Given the description of an element on the screen output the (x, y) to click on. 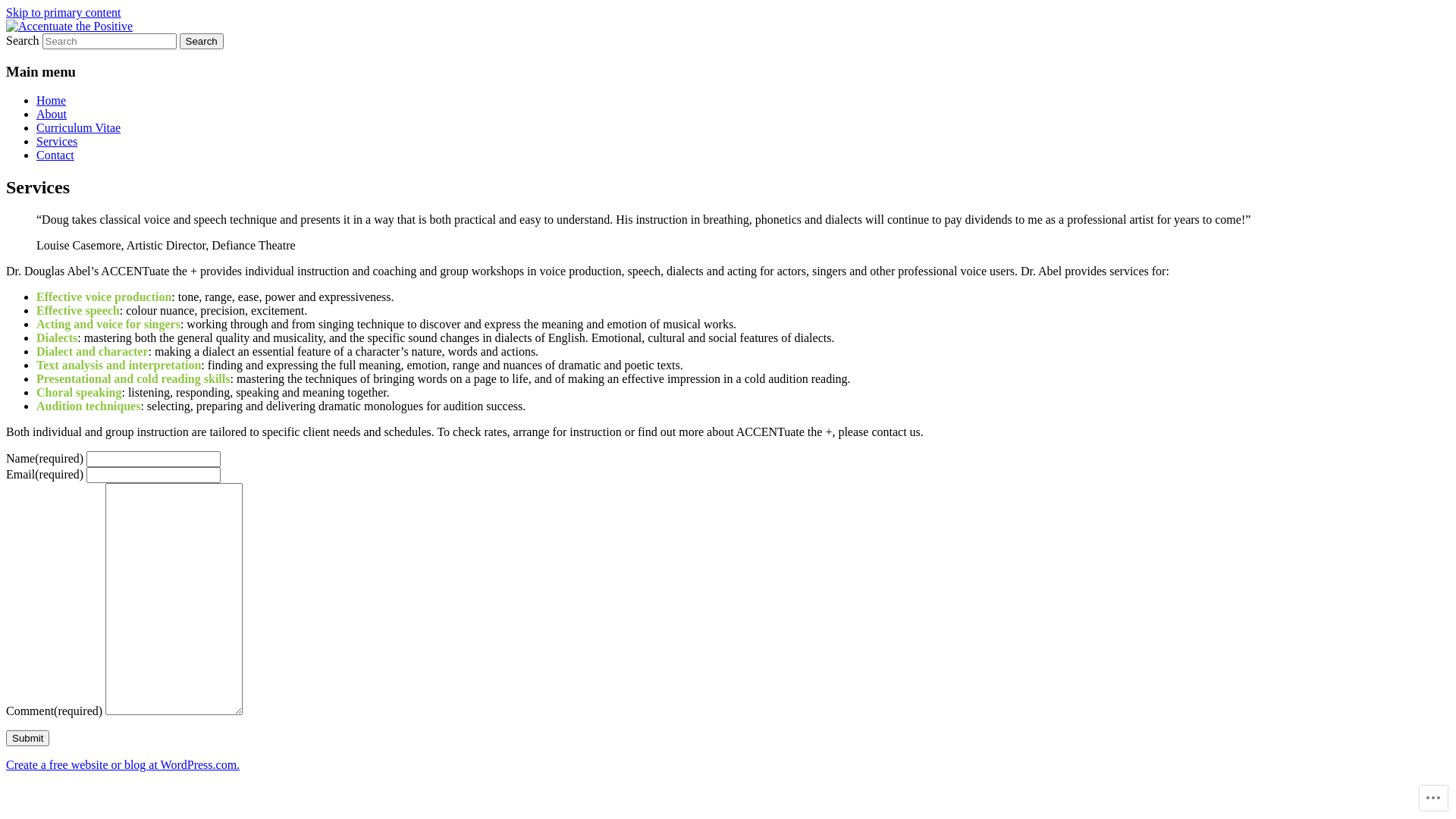
Home Element type: text (50, 100)
Submit Element type: text (27, 738)
Contact Element type: text (55, 154)
Curriculum Vitae Element type: text (78, 127)
About Element type: text (51, 113)
Services Element type: text (56, 140)
Accentuate the Positive Element type: text (126, 48)
Create a free website or blog at WordPress.com. Element type: text (122, 764)
Skip to primary content Element type: text (63, 12)
Search Element type: text (201, 41)
